Given the description of an element on the screen output the (x, y) to click on. 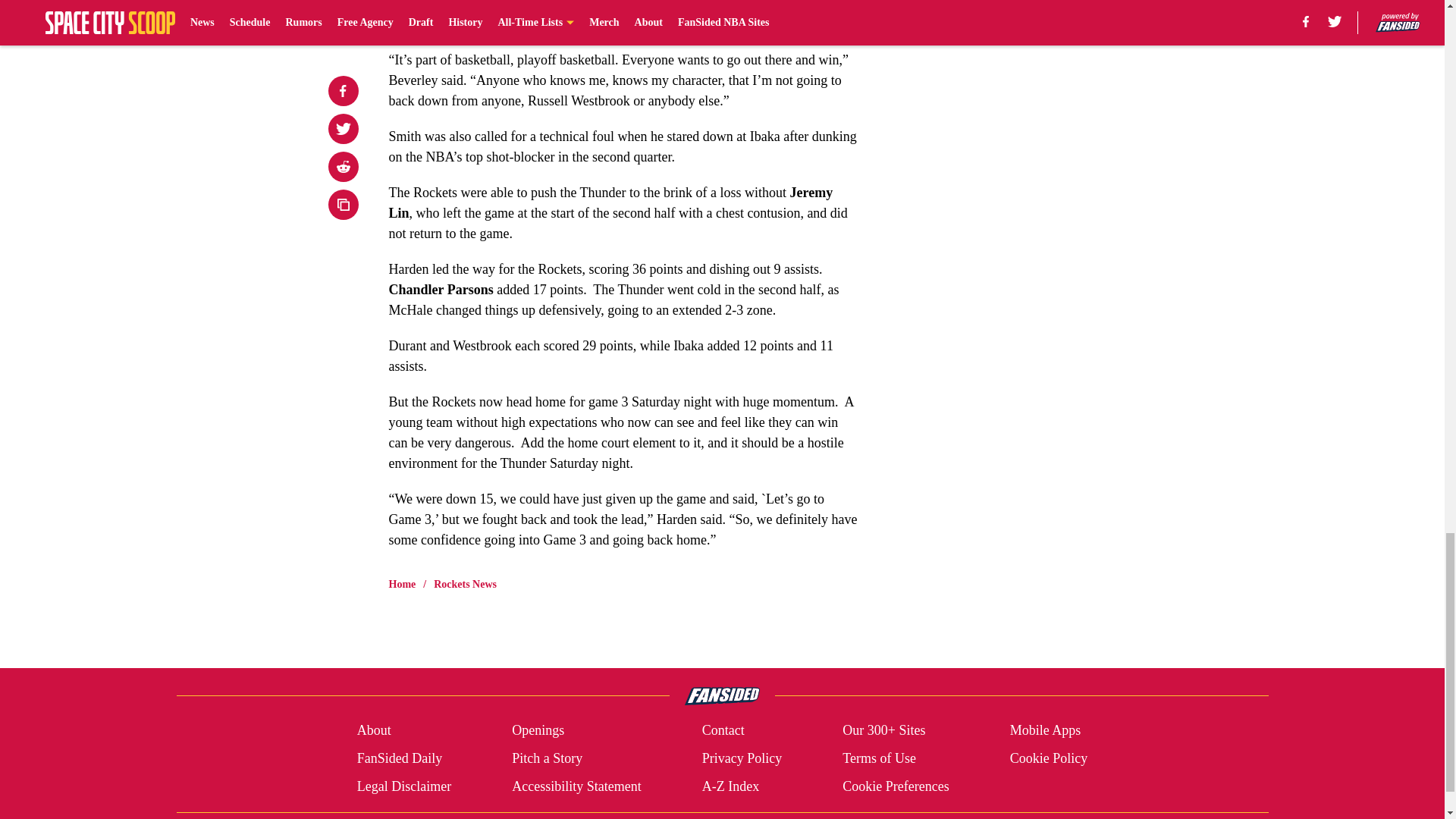
Privacy Policy (742, 758)
FanSided Daily (399, 758)
Cookie Policy (1048, 758)
Home (401, 584)
Contact (722, 730)
Mobile Apps (1045, 730)
Rockets News (464, 584)
Legal Disclaimer (403, 786)
Pitch a Story (547, 758)
A-Z Index (729, 786)
Accessibility Statement (576, 786)
Terms of Use (879, 758)
About (373, 730)
Openings (538, 730)
